Given the description of an element on the screen output the (x, y) to click on. 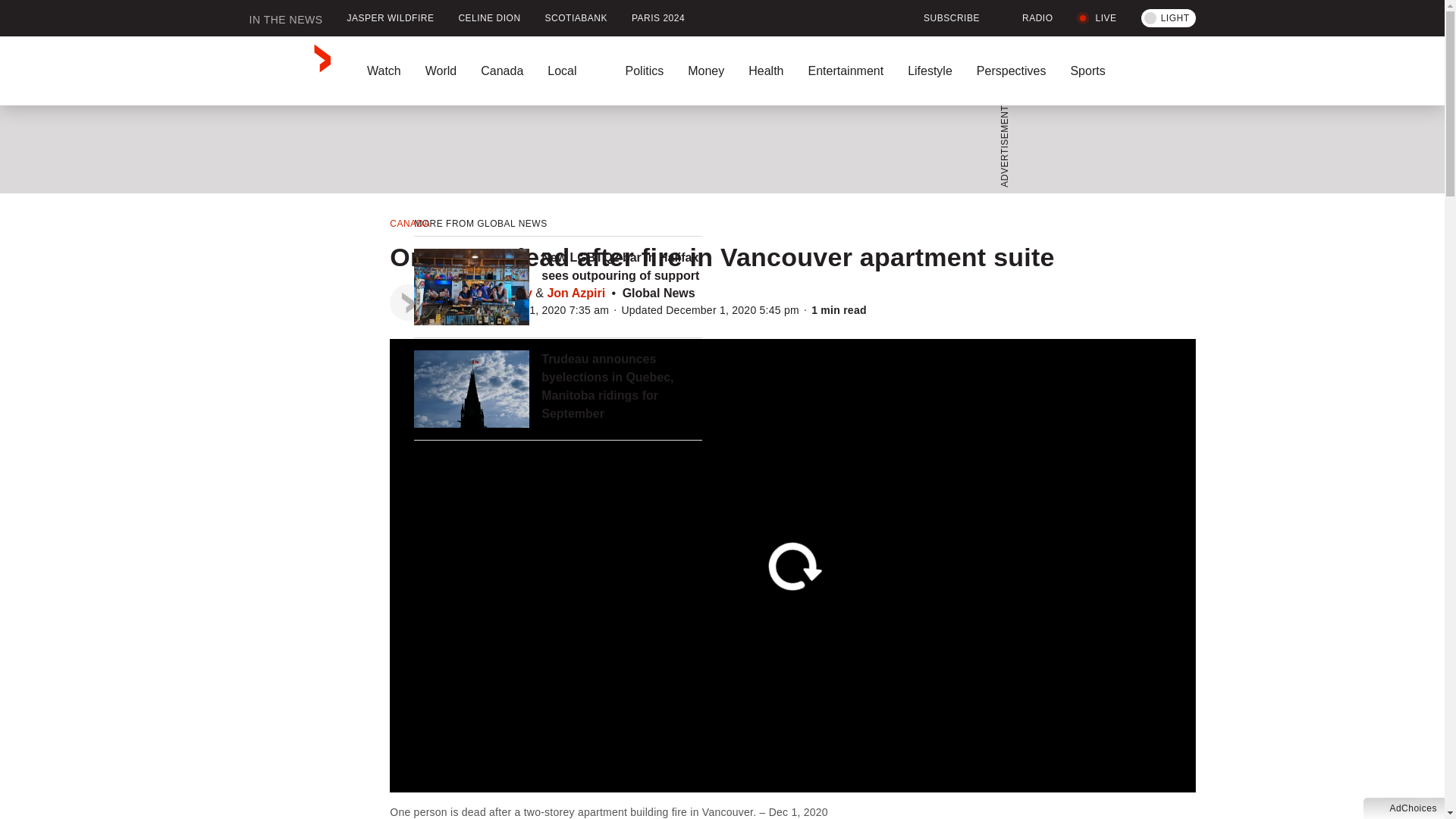
RADIO (1028, 18)
LIVE (1096, 18)
PARIS 2024 (658, 18)
Perspectives (1010, 70)
GlobalNews home (289, 70)
Lifestyle (929, 70)
Posts by Jon Azpiri (576, 293)
CELINE DION (488, 18)
Politics (643, 70)
Local (573, 70)
SCOTIABANK (576, 18)
SUBSCRIBE (942, 18)
New LGBTQ2 bar in Halifax sees outpouring of support (621, 266)
